Given the description of an element on the screen output the (x, y) to click on. 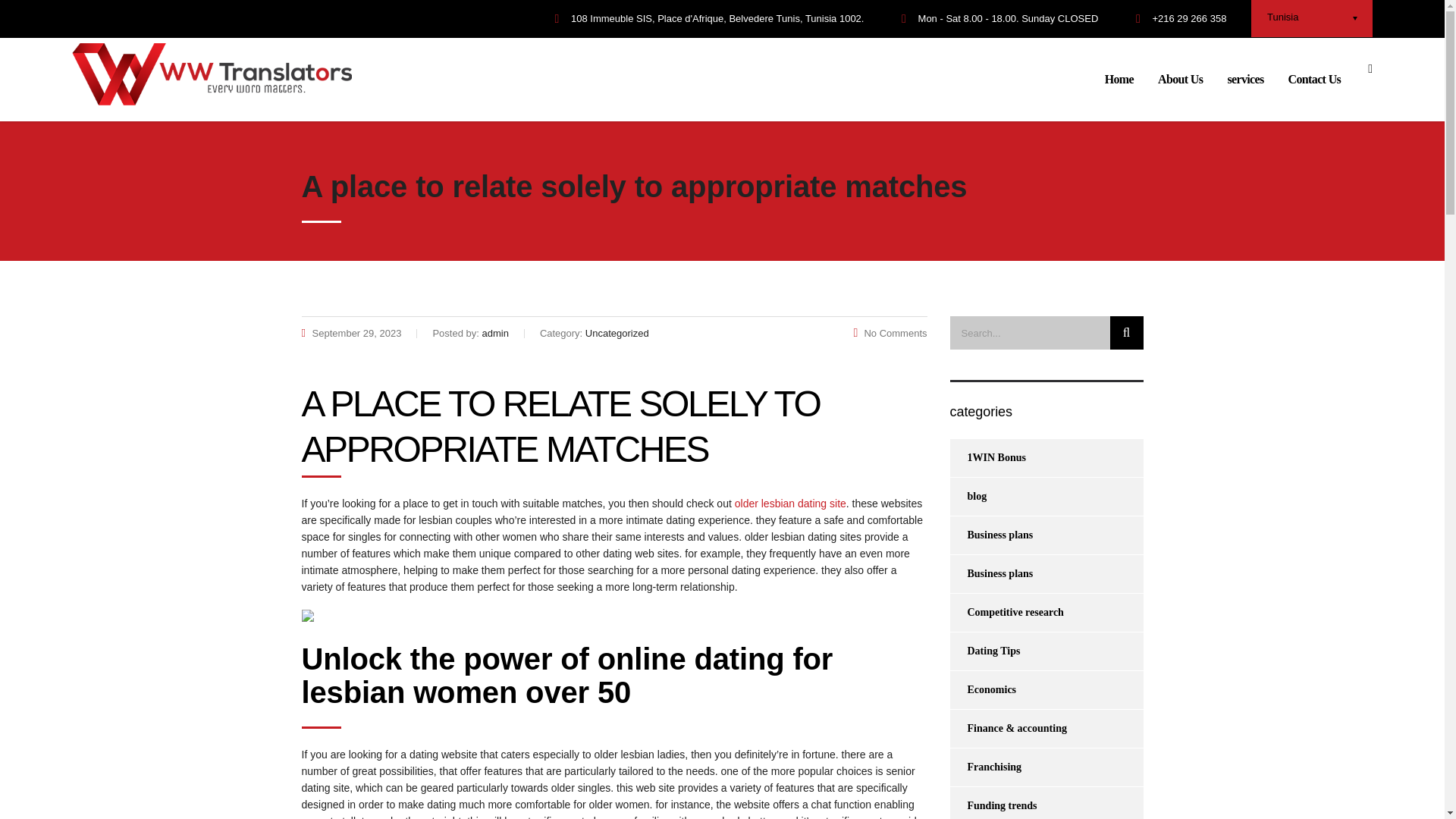
Home (1119, 79)
Business plans (990, 573)
Competitive research (1005, 612)
1WIN Bonus (987, 457)
services (1244, 79)
Franchising (985, 767)
blog (968, 496)
Economics (982, 689)
Business plans (990, 535)
Contact Us (1315, 79)
older lesbian dating site (790, 503)
About Us (1179, 79)
Funding trends (992, 803)
Dating Tips (984, 651)
No Comments (890, 333)
